Given the description of an element on the screen output the (x, y) to click on. 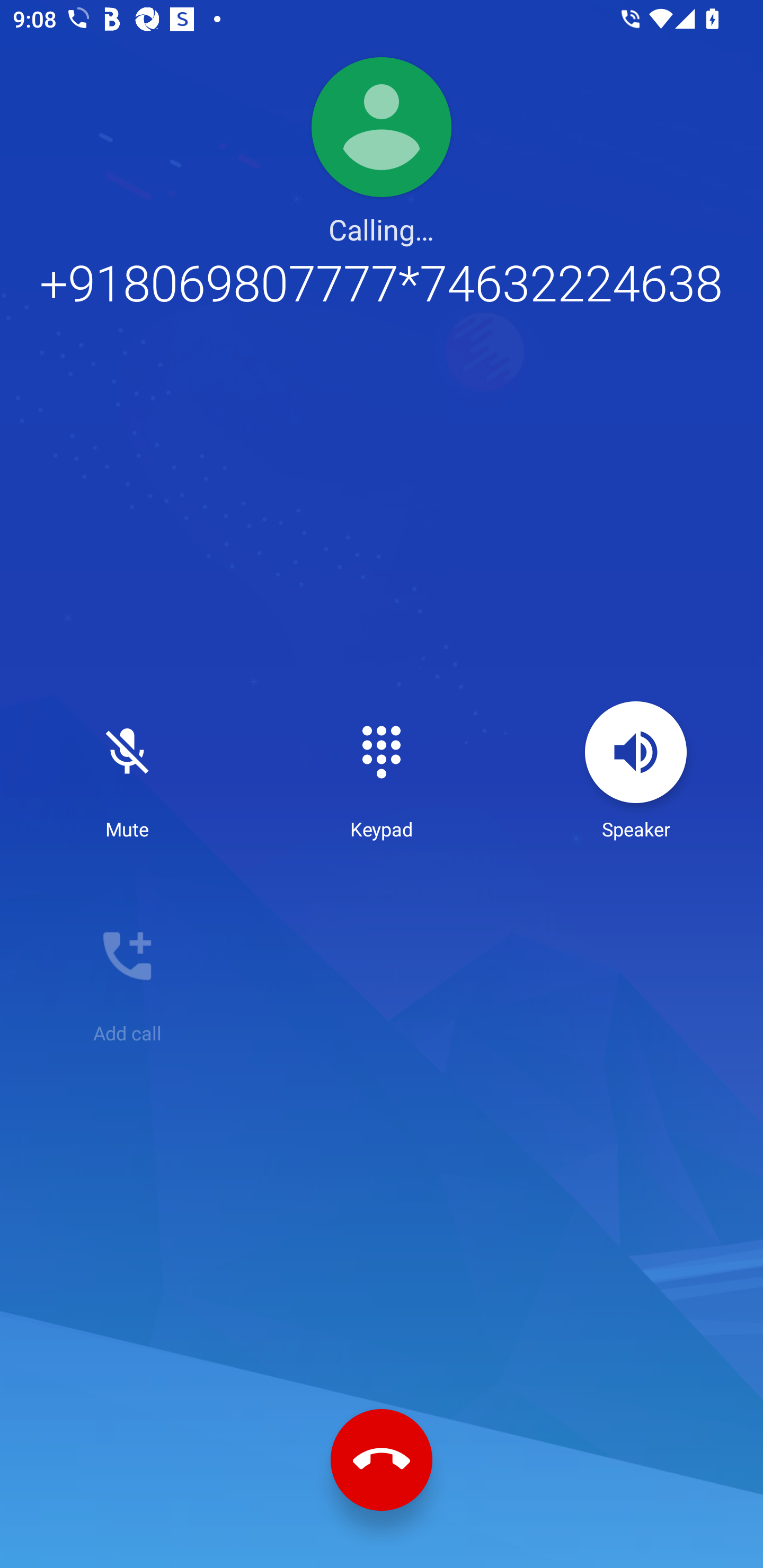
Unmuted Mute (127, 771)
Keypad (381, 771)
Speaker, is on Speaker (635, 771)
Add call (127, 975)
End call (381, 1460)
